Given the description of an element on the screen output the (x, y) to click on. 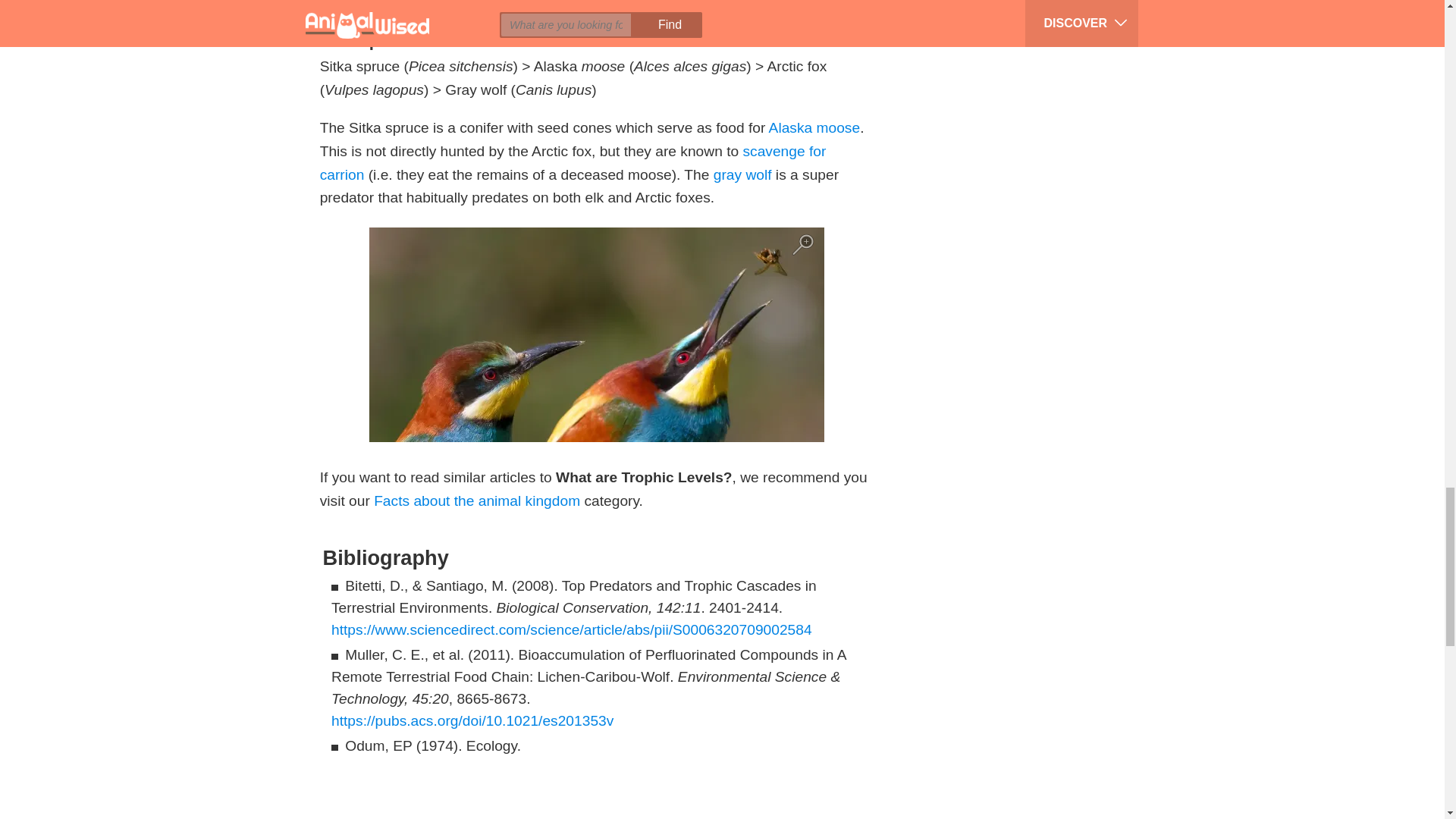
Facts about the animal kingdom (476, 500)
gray wolf (742, 174)
scavenge for carrion (573, 162)
